Given the description of an element on the screen output the (x, y) to click on. 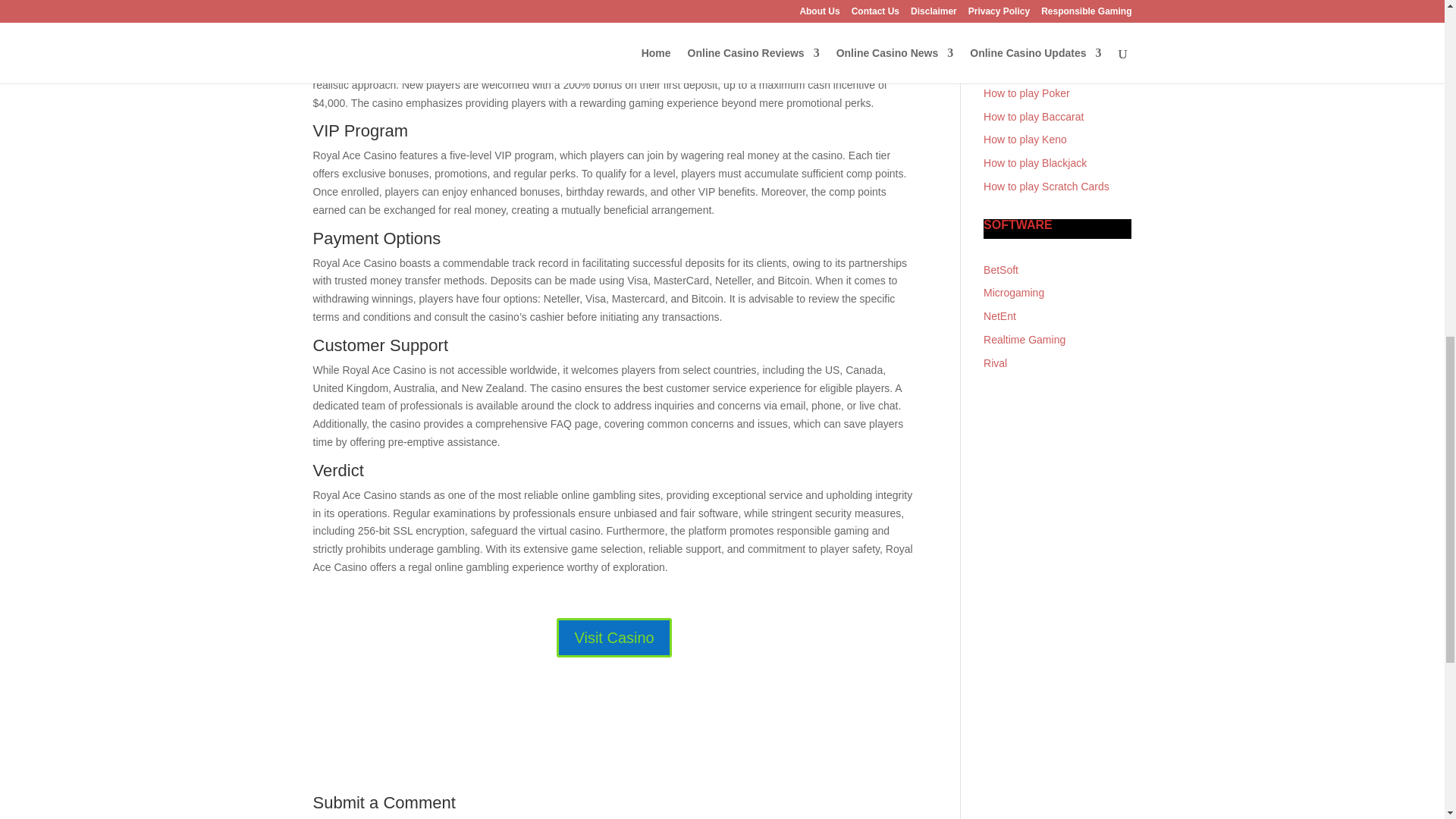
How to play Poker (1027, 92)
How to play Baccarat (1033, 116)
How to play Keno (1025, 139)
Visit Casino (613, 637)
Tips for first-time players (1041, 9)
